Given the description of an element on the screen output the (x, y) to click on. 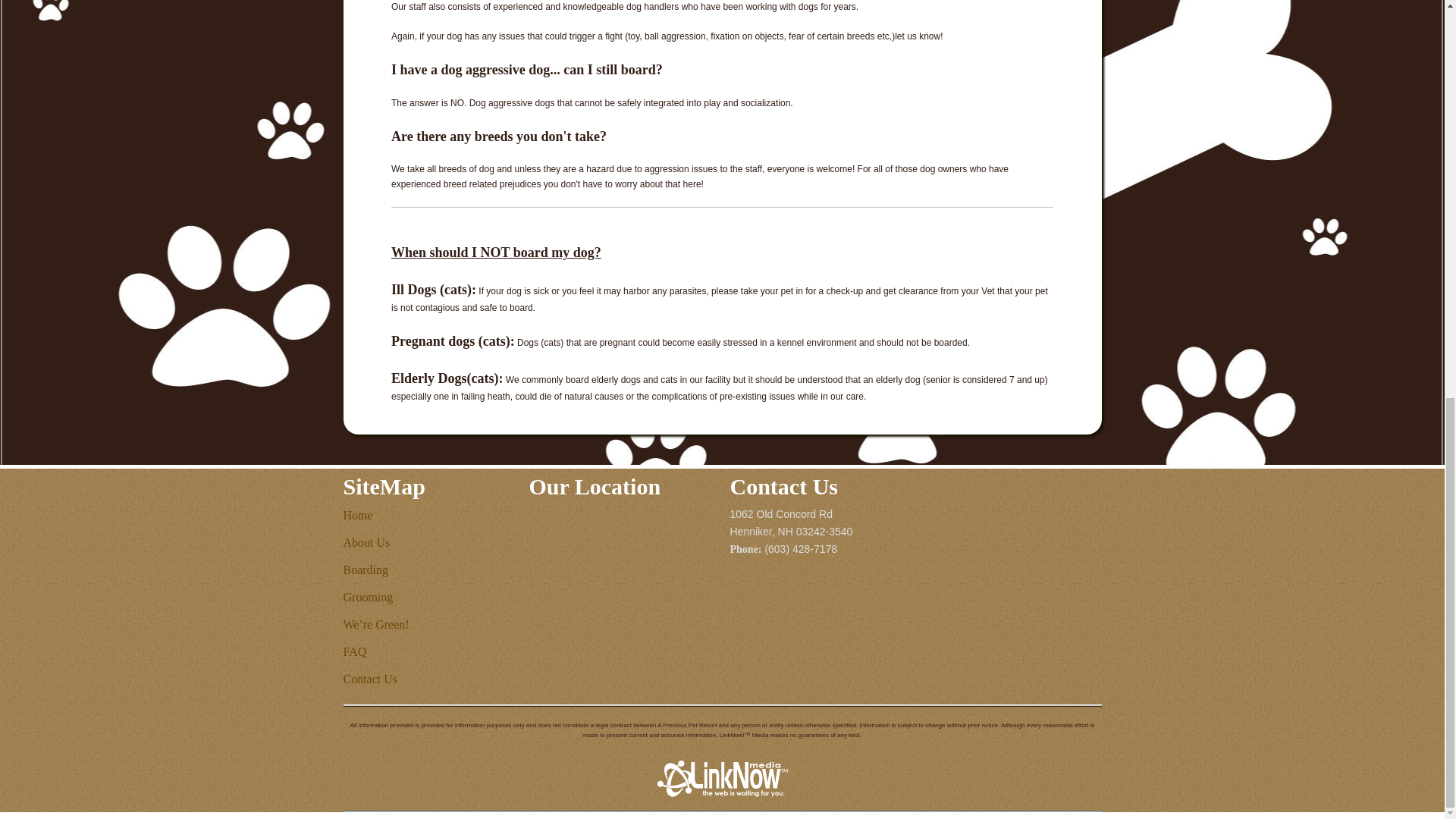
About Us (366, 542)
Contact Us (369, 678)
Home (357, 514)
Boarding (365, 569)
FAQ (354, 651)
Grooming (367, 596)
